Given the description of an element on the screen output the (x, y) to click on. 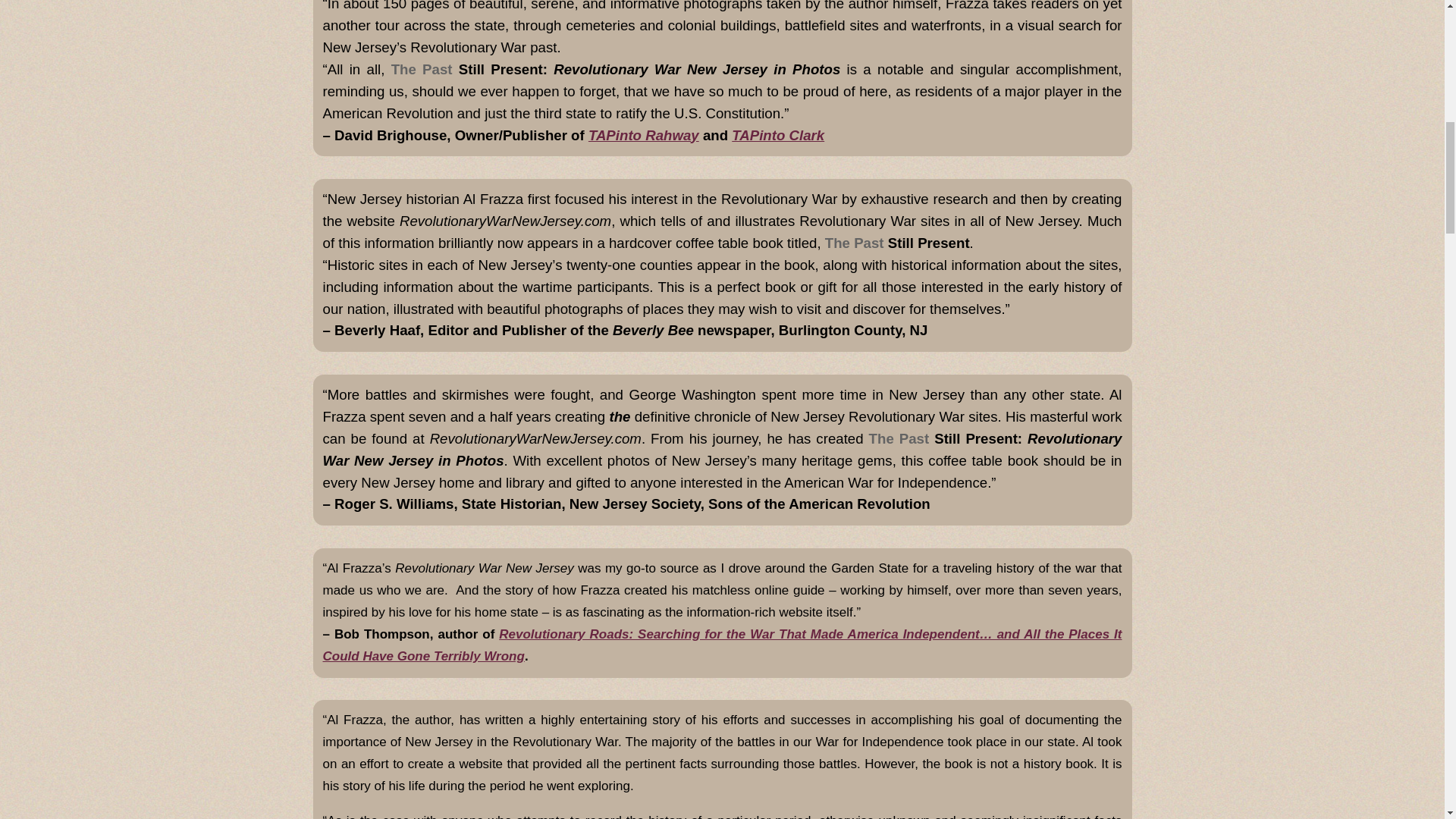
TAPinto Rahway (643, 135)
TAPinto Clark (778, 135)
